Given the description of an element on the screen output the (x, y) to click on. 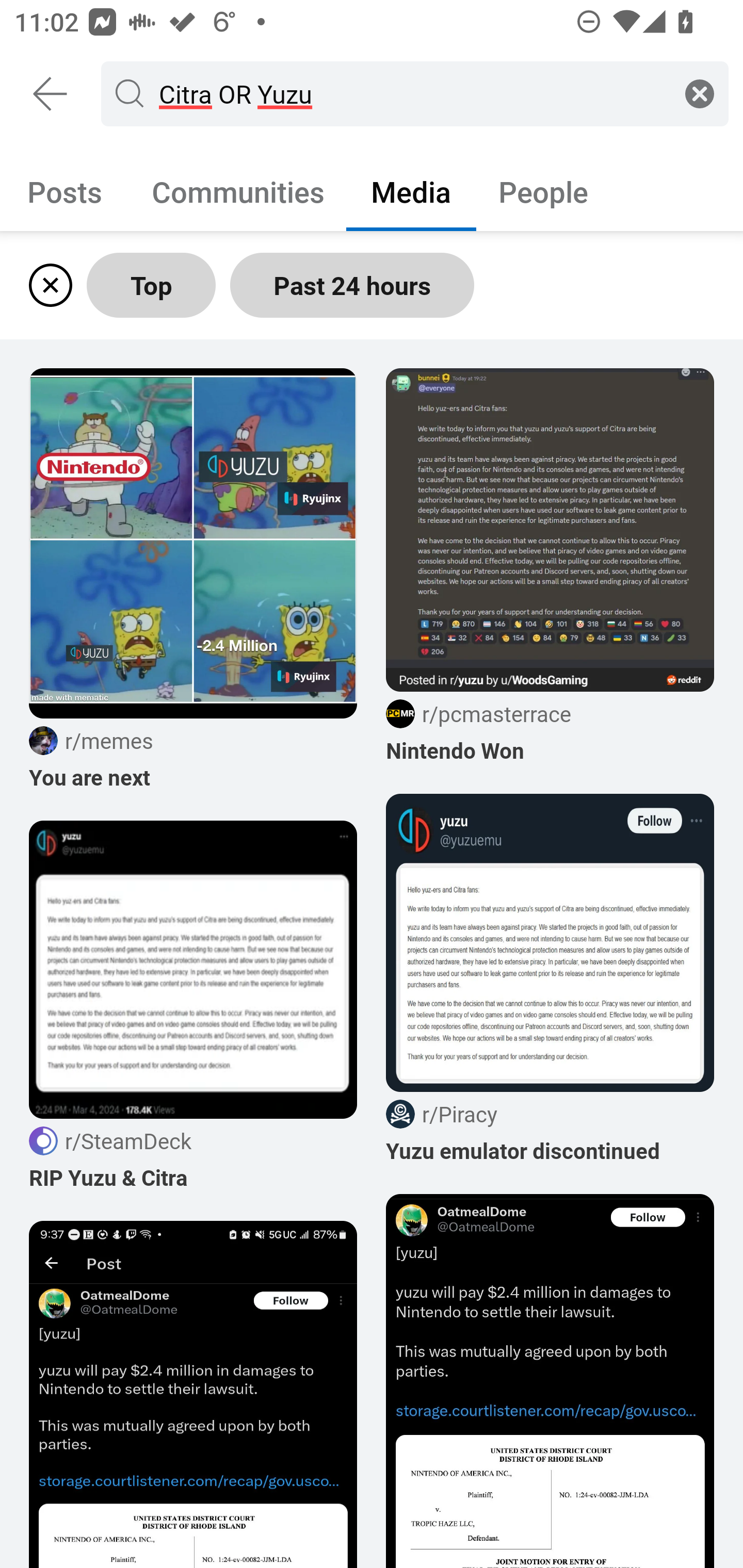
Back (50, 93)
Citra OR Yuzu (410, 93)
Clear search (699, 93)
Posts (65, 191)
Communities (238, 191)
People (542, 191)
Clear active filters (46, 285)
Top Sort by Top (150, 285)
Past 24 hours Filter Time by Past 24 hours (352, 285)
You are next , Posted in r/memes (192, 579)
Nintendo Won , Posted in r/pcmasterrace (549, 566)
Yuzu emulator discontinued , Posted in r/Piracy (549, 979)
RIP Yuzu & Citra, Posted in r/SteamDeck (192, 1005)
